Given the description of an element on the screen output the (x, y) to click on. 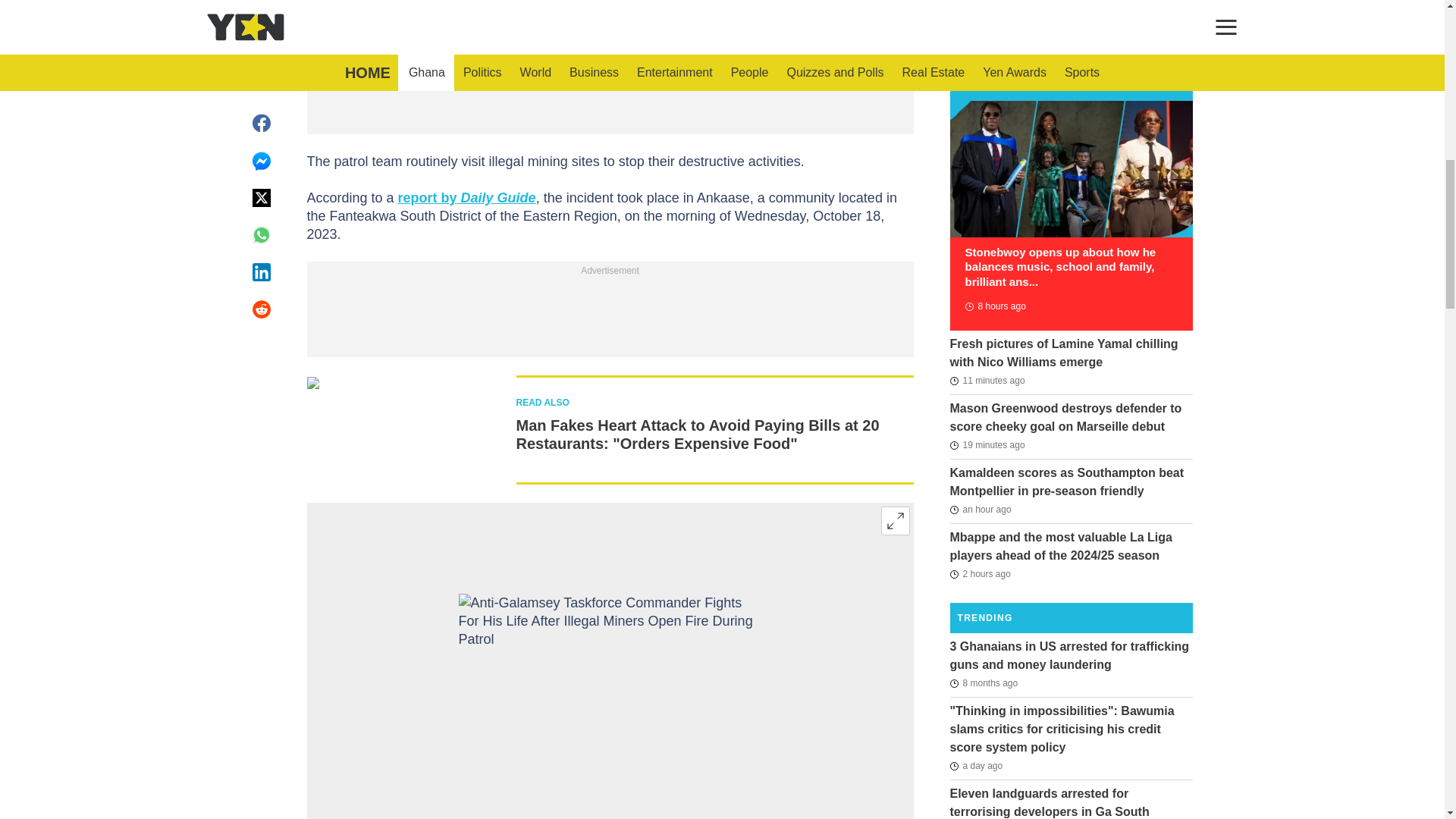
Expand image (895, 520)
2024-07-26T15:02:36Z (976, 765)
2024-07-27T19:01:12Z (979, 574)
2024-07-27T20:06:21Z (979, 509)
2023-11-10T19:47:19Z (983, 683)
2024-07-27T12:08:29Z (994, 306)
2024-07-27T20:56:09Z (987, 380)
2024-07-27T20:48:33Z (987, 444)
